Given the description of an element on the screen output the (x, y) to click on. 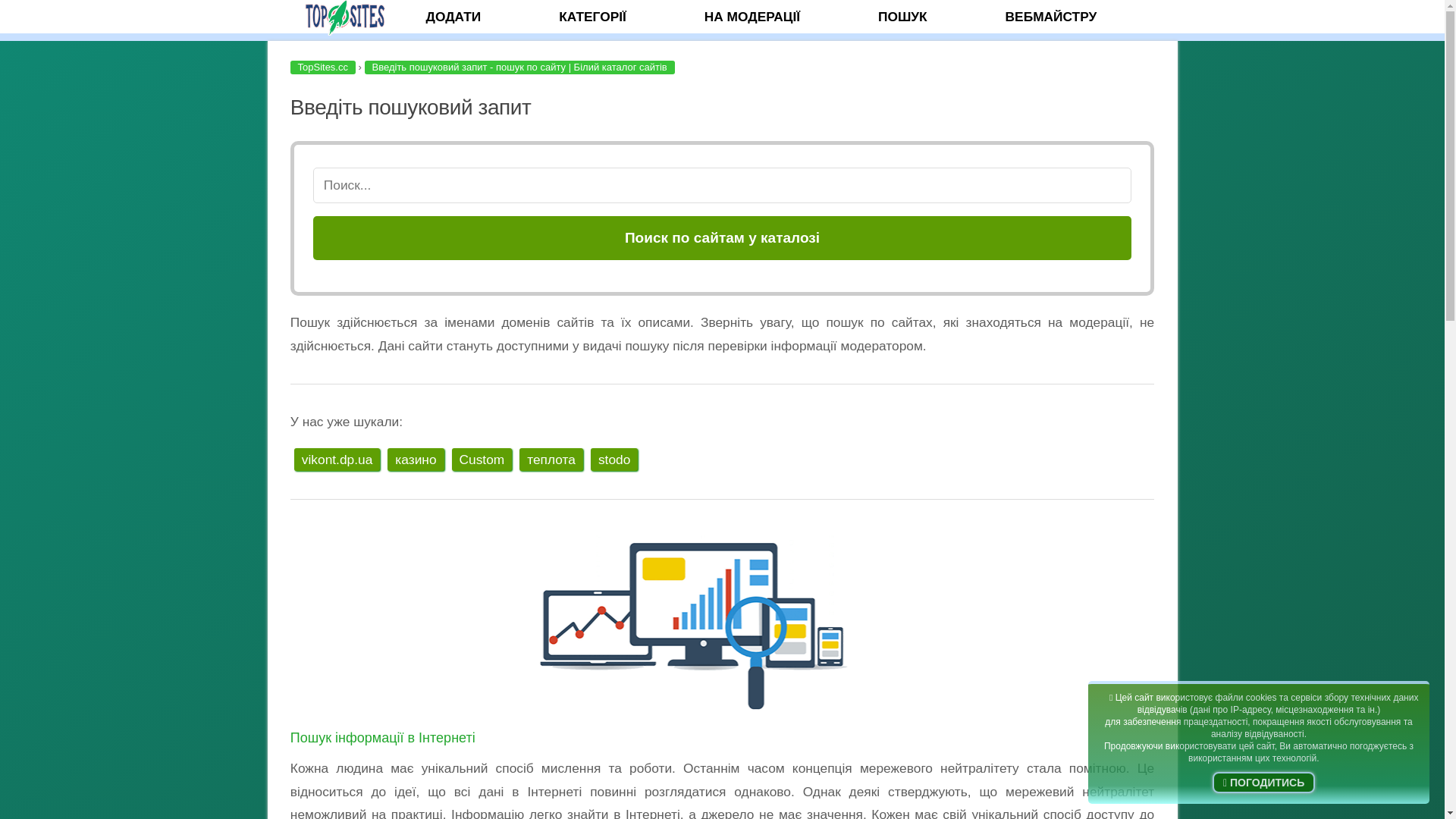
TopSites.cc Element type: text (321, 67)
